Given the description of an element on the screen output the (x, y) to click on. 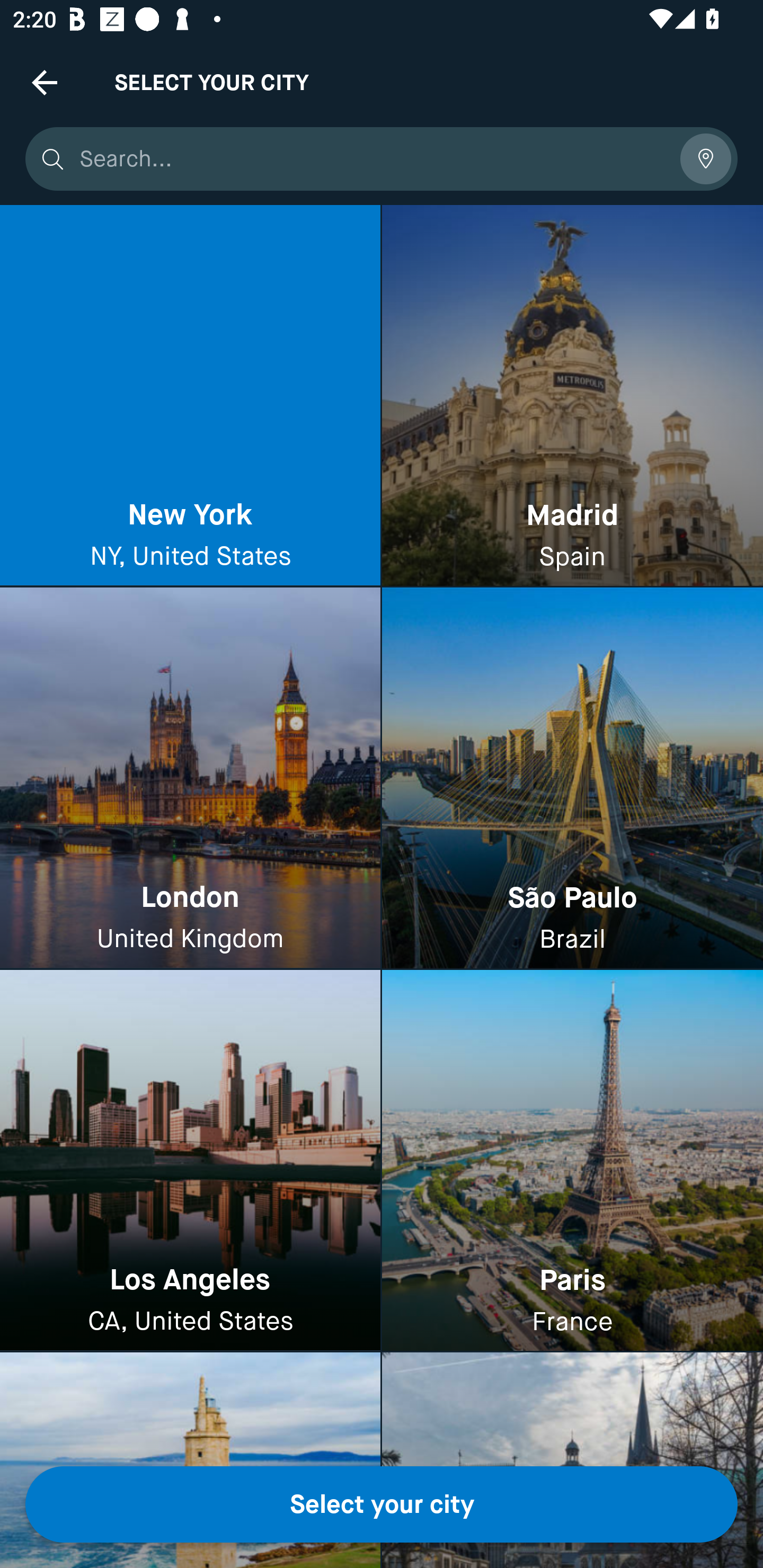
Navigate up (44, 82)
Search... (373, 159)
New York NY, United States (190, 395)
Madrid Spain (572, 395)
London United Kingdom (190, 778)
São Paulo Brazil (572, 778)
Los Angeles CA, United States (190, 1160)
Paris France (572, 1160)
Select your city (381, 1504)
